Given the description of an element on the screen output the (x, y) to click on. 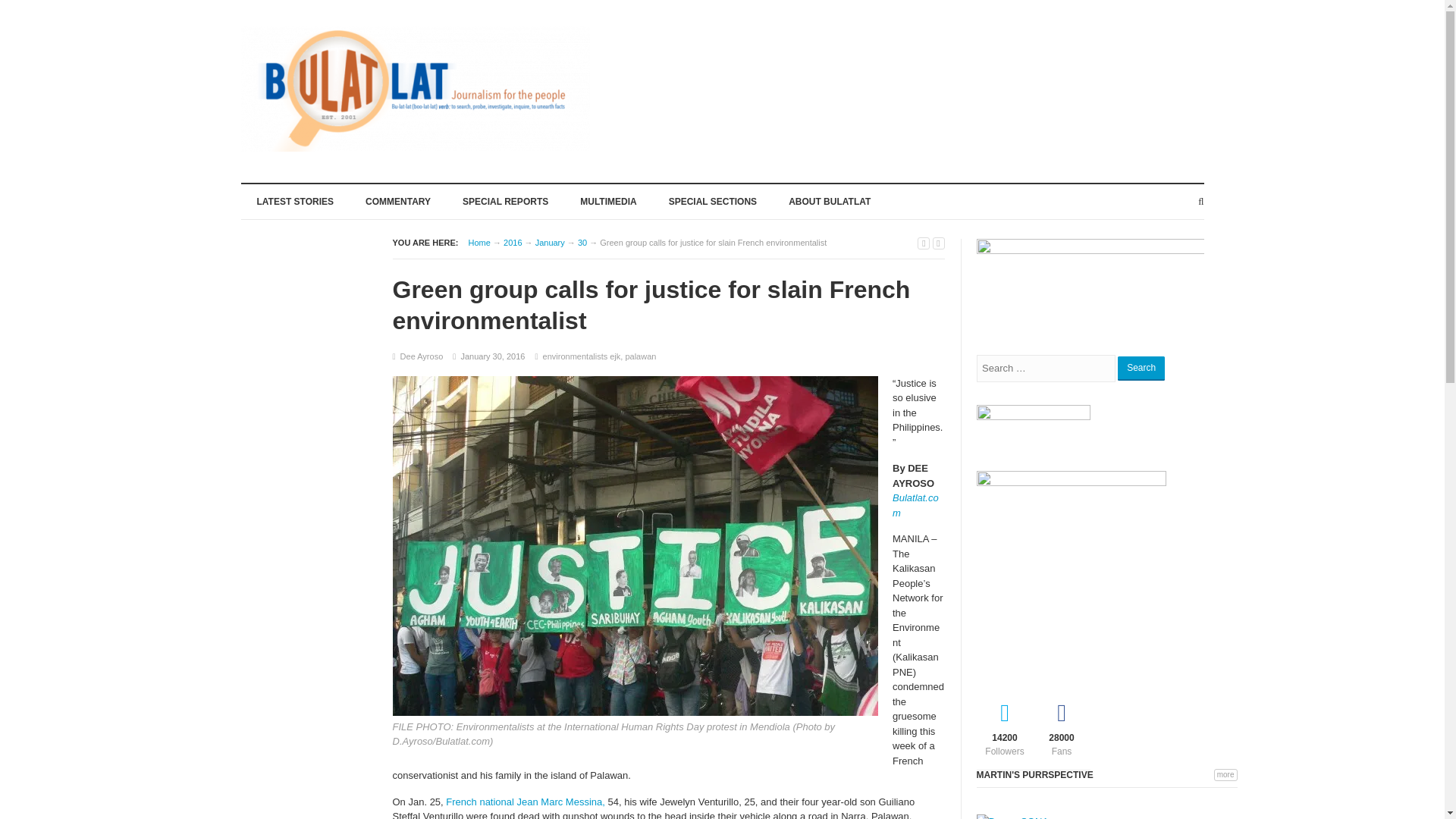
Saturday, January 30, 2016, 3:00 pm (492, 356)
Bulatlat (479, 242)
LATEST STORIES (296, 200)
COMMENTARY (397, 200)
Twitter (1004, 726)
MULTIMEDIA (608, 200)
SPECIAL REPORTS (505, 200)
Facebook (1060, 726)
SPECIAL SECTIONS (713, 200)
